Given the description of an element on the screen output the (x, y) to click on. 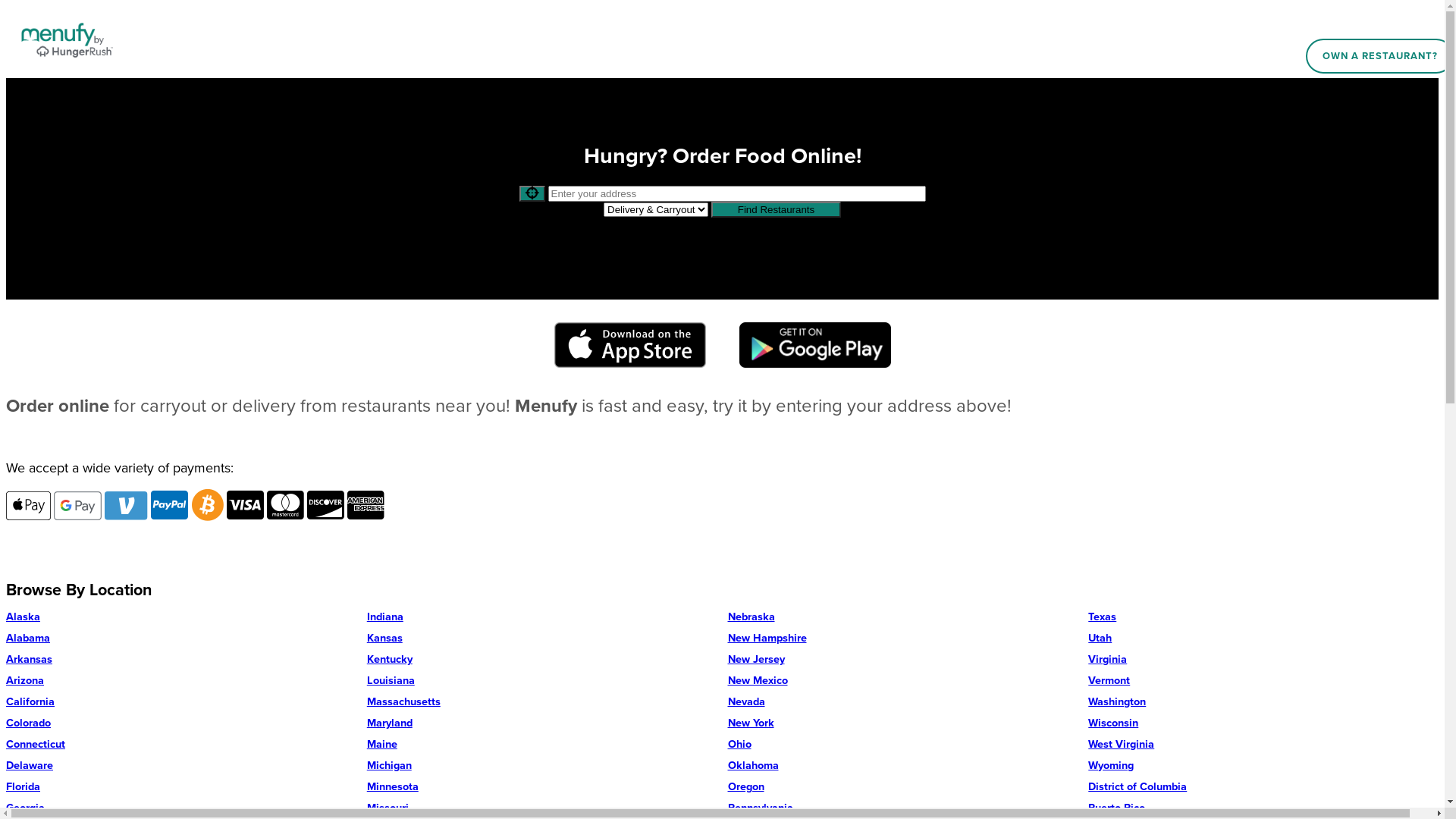
Maryland Element type: text (542, 723)
Wyoming Element type: text (1263, 765)
New York Element type: text (903, 723)
Vermont Element type: text (1263, 680)
Louisiana Element type: text (542, 680)
Find Restaurants Element type: text (775, 209)
Missouri Element type: text (542, 808)
Oklahoma Element type: text (903, 765)
Virginia Element type: text (1263, 659)
Arizona Element type: text (181, 680)
Arkansas Element type: text (181, 659)
Accepts PayPal Element type: hover (169, 504)
Washington Element type: text (1263, 702)
Accepts Apple Pay Element type: hover (28, 505)
Accepts American Express Element type: hover (365, 504)
Accepts Visa Element type: hover (244, 504)
Accepts Discover Element type: hover (325, 504)
California Element type: text (181, 702)
Massachusetts Element type: text (542, 702)
New Jersey Element type: text (903, 659)
Accepts Google Pay Element type: hover (76, 505)
Minnesota Element type: text (542, 786)
Alabama Element type: text (181, 638)
Nebraska Element type: text (903, 617)
Delaware Element type: text (181, 765)
Puerto Rico Element type: text (1263, 808)
West Virginia Element type: text (1263, 744)
Indiana Element type: text (542, 617)
Oregon Element type: text (903, 786)
Kentucky Element type: text (542, 659)
Accepts Mastercard Element type: hover (285, 504)
New Mexico Element type: text (903, 680)
Georgia Element type: text (181, 808)
Texas Element type: text (1263, 617)
District of Columbia Element type: text (1263, 786)
Ohio Element type: text (903, 744)
New Hampshire Element type: text (903, 638)
Michigan Element type: text (542, 765)
Alaska Element type: text (181, 617)
Kansas Element type: text (542, 638)
Connecticut Element type: text (181, 744)
Utah Element type: text (1263, 638)
Nevada Element type: text (903, 702)
Pennsylvania Element type: text (903, 808)
Colorado Element type: text (181, 723)
Florida Element type: text (181, 786)
Accepts Venmo Element type: hover (125, 505)
Maine Element type: text (542, 744)
OWN A RESTAURANT? Element type: text (1379, 55)
Wisconsin Element type: text (1263, 723)
